Given the description of an element on the screen output the (x, y) to click on. 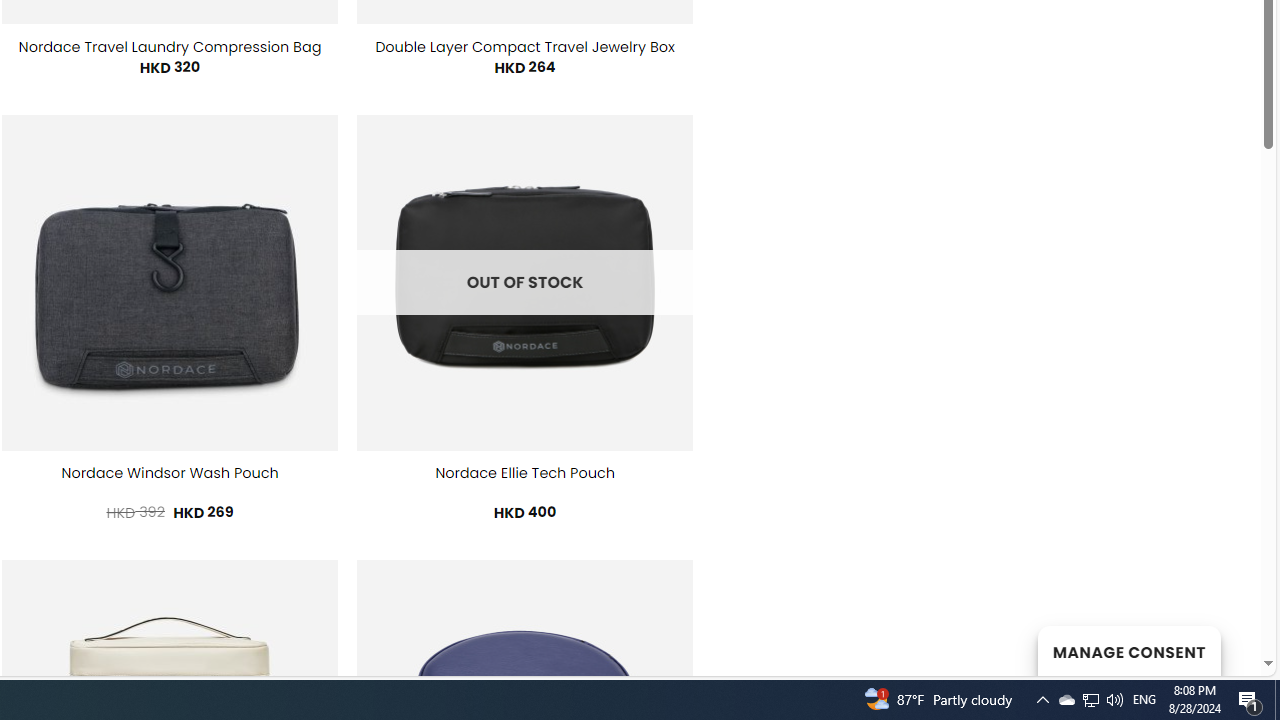
Nordace Ellie Tech Pouch (524, 473)
Nordace Travel Laundry Compression Bag (169, 47)
Double Layer Compact Travel Jewelry Box (524, 47)
Nordace Windsor Wash Pouch (170, 473)
MANAGE CONSENT (1128, 650)
